Given the description of an element on the screen output the (x, y) to click on. 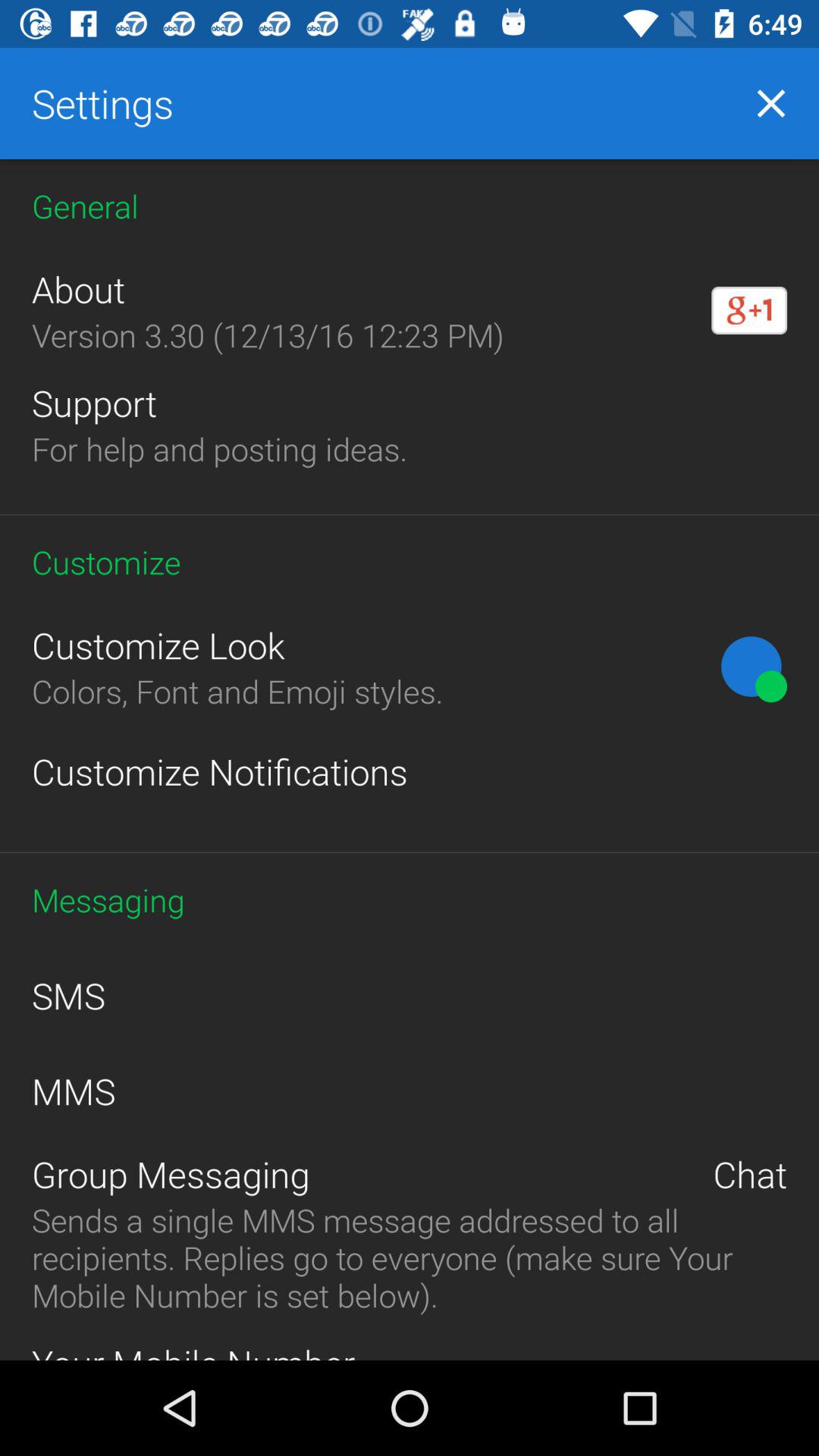
turn off the icon above general item (771, 103)
